Given the description of an element on the screen output the (x, y) to click on. 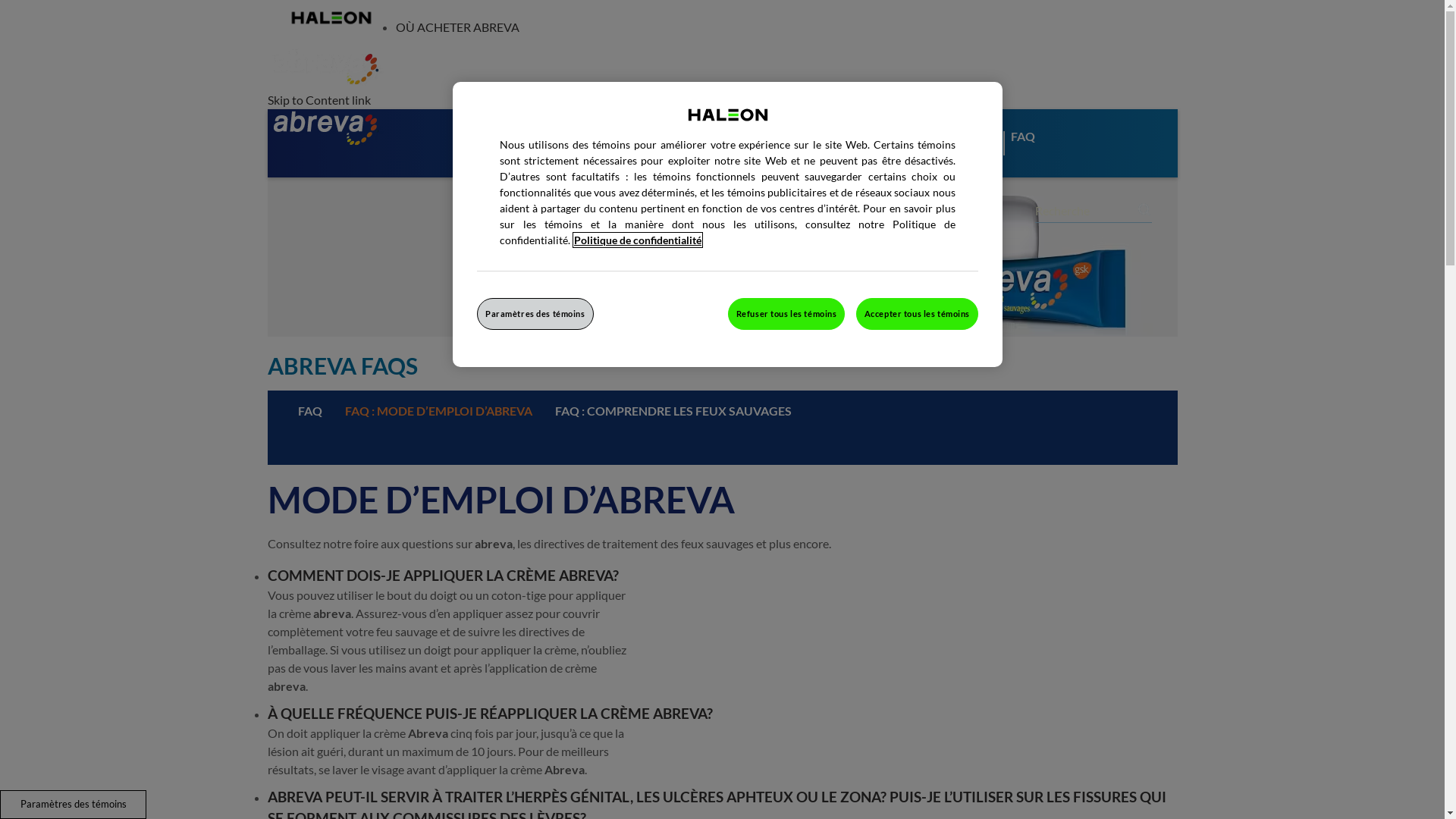
Skip to Content link Element type: text (318, 99)
PRODUITS ABREVA Element type: text (527, 153)
Deux tubes bleus de produits Abreva Element type: hover (721, 256)
FAQ Element type: text (1033, 153)
Haleon Element type: hover (330, 17)
Recherche Element type: text (1144, 209)
FAQ Element type: text (309, 410)
FAQ : COMPRENDRE LES FEUX SAUVAGES Element type: text (673, 410)
Abreva Logo Element type: hover (324, 128)
